Given the description of an element on the screen output the (x, y) to click on. 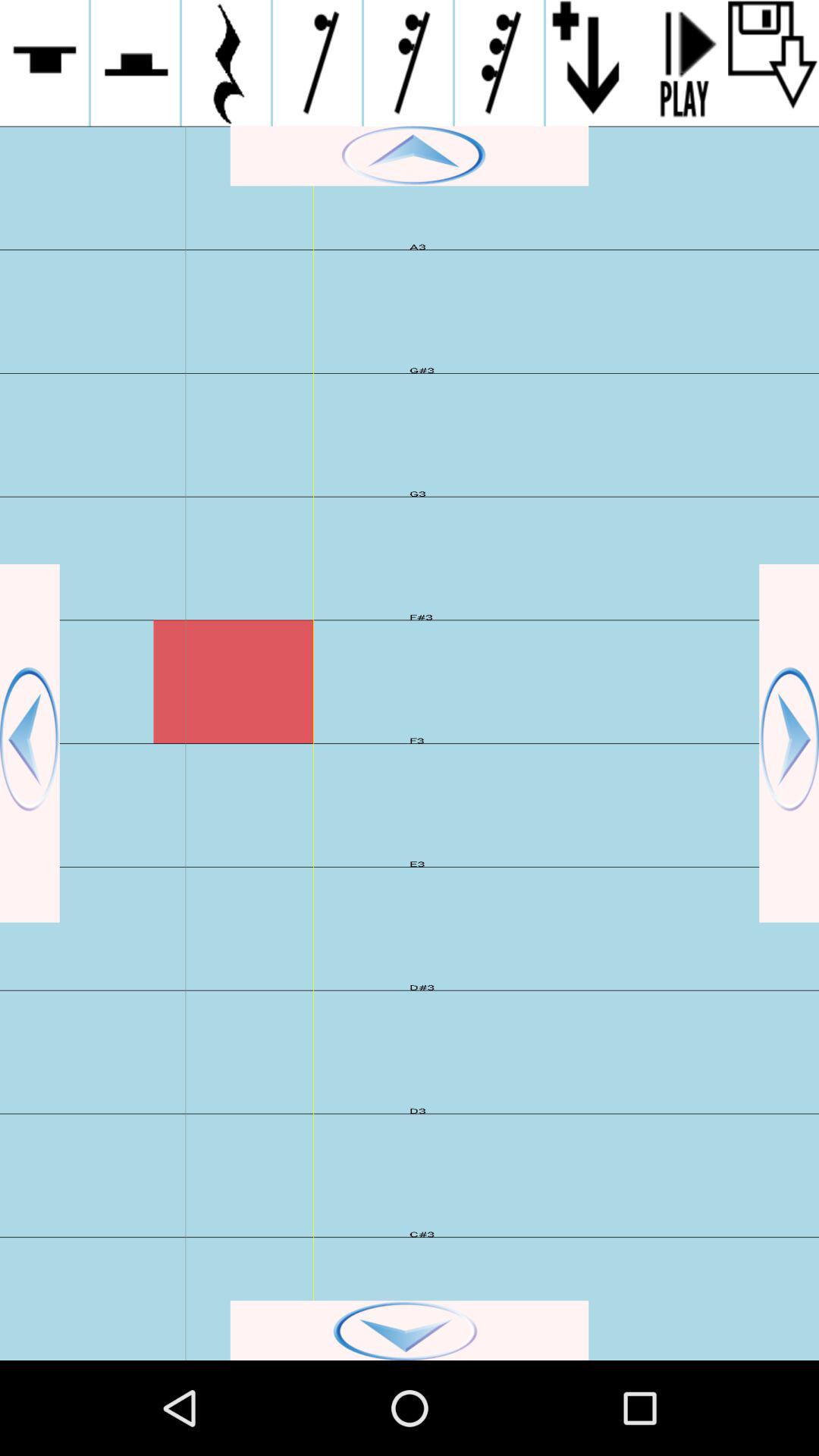
add selected element (135, 63)
